Given the description of an element on the screen output the (x, y) to click on. 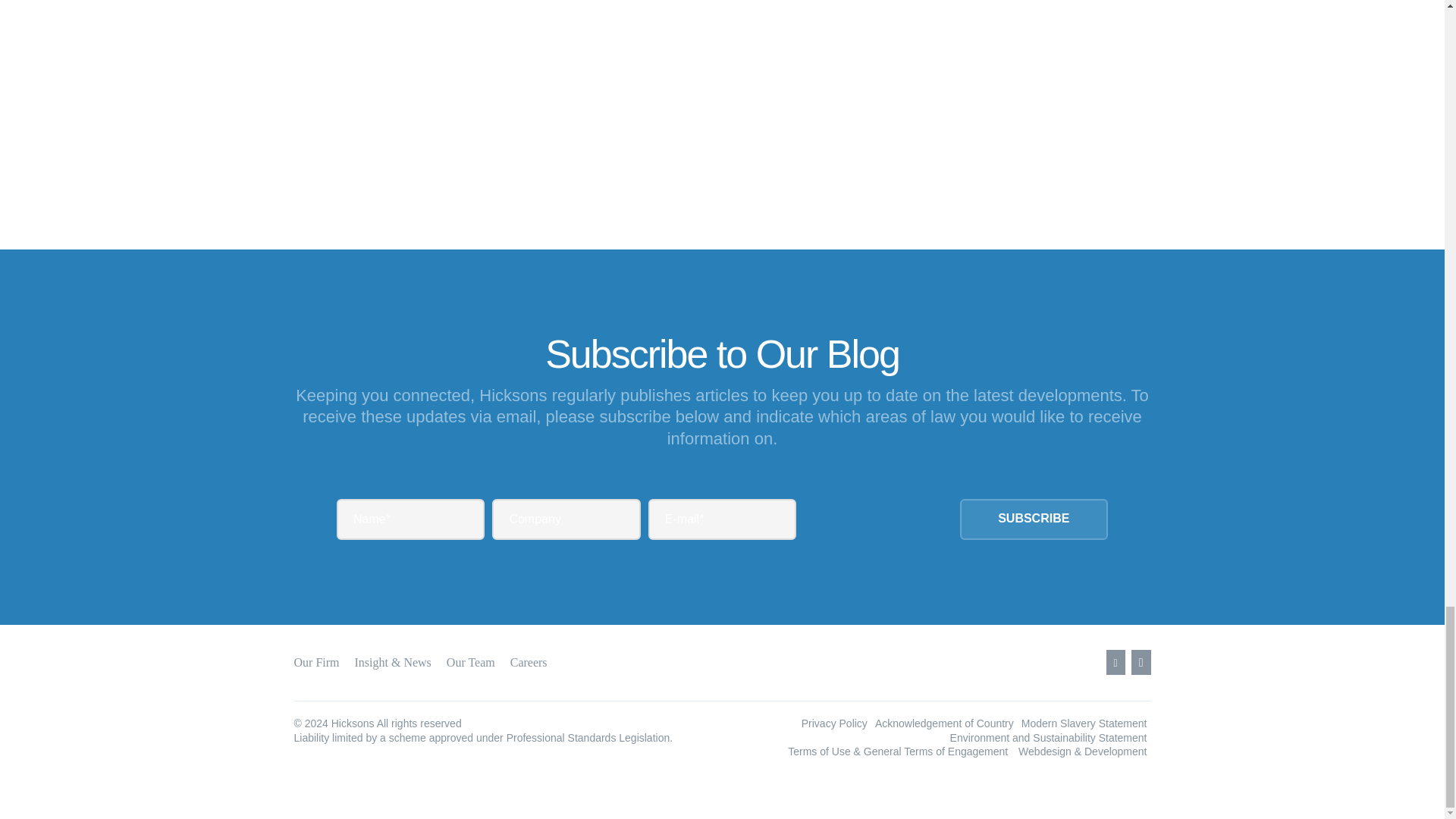
Subscribe (1033, 518)
